Given the description of an element on the screen output the (x, y) to click on. 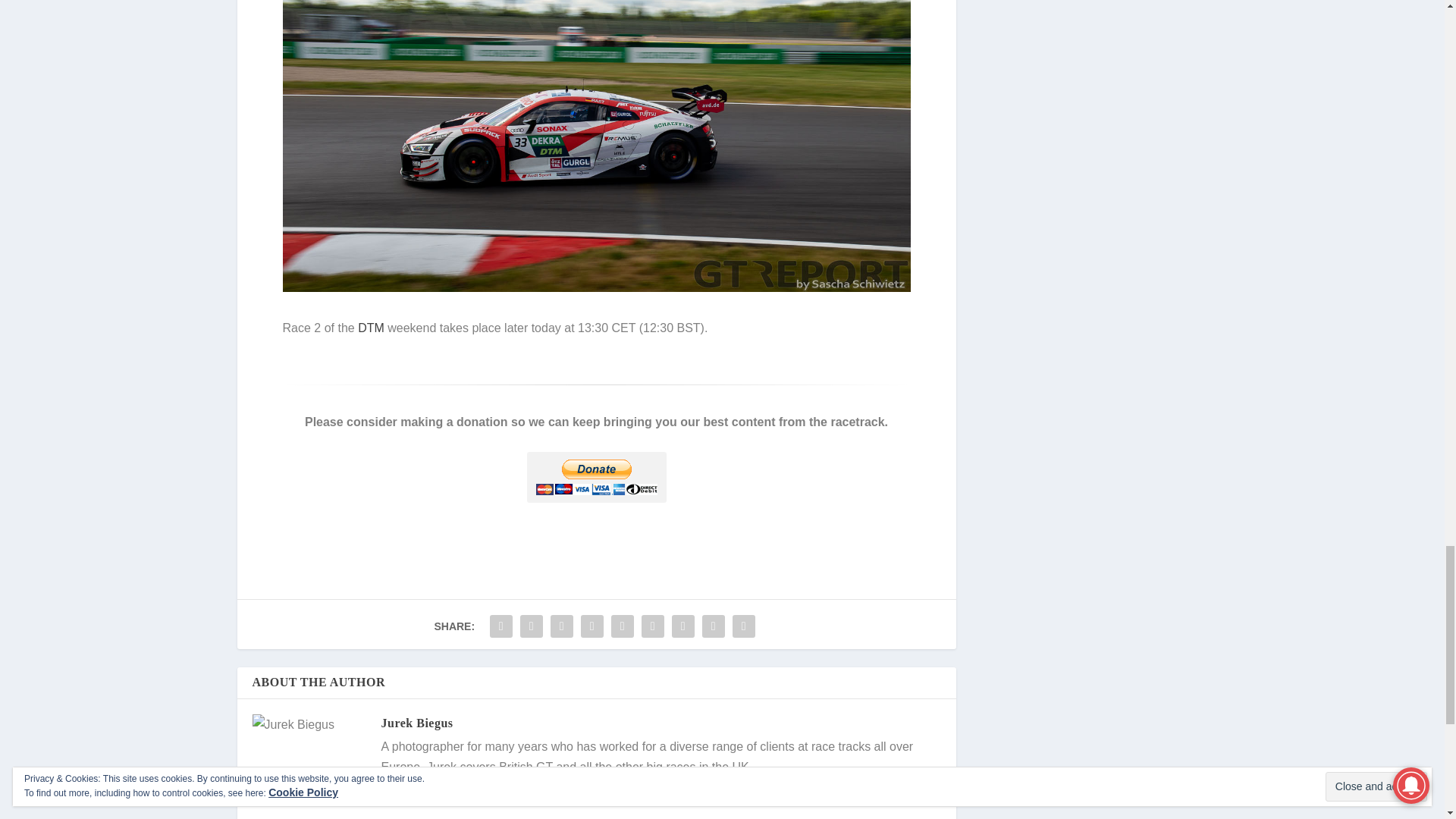
View all posts by Jurek Biegus (416, 722)
